Given the description of an element on the screen output the (x, y) to click on. 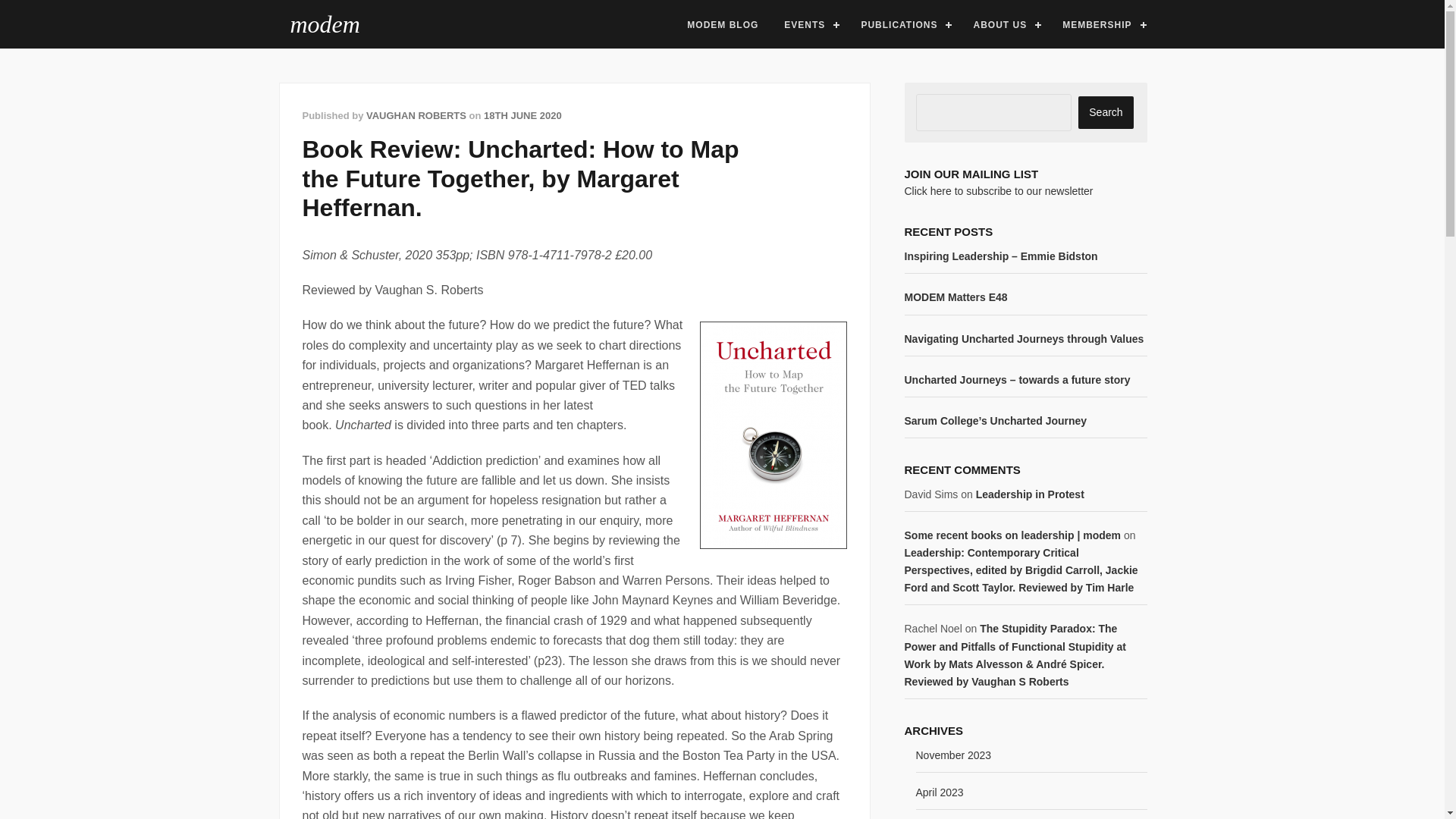
PUBLICATIONS (903, 24)
Navigating Uncharted Journeys through Values (1023, 338)
MEMBERSHIP (1101, 24)
EVENTS (809, 24)
MODEM BLOG (722, 24)
modem (324, 23)
Search (1105, 112)
Search (1105, 112)
Click here to subscribe to our newsletter (998, 191)
ABOUT US (1004, 24)
